Given the description of an element on the screen output the (x, y) to click on. 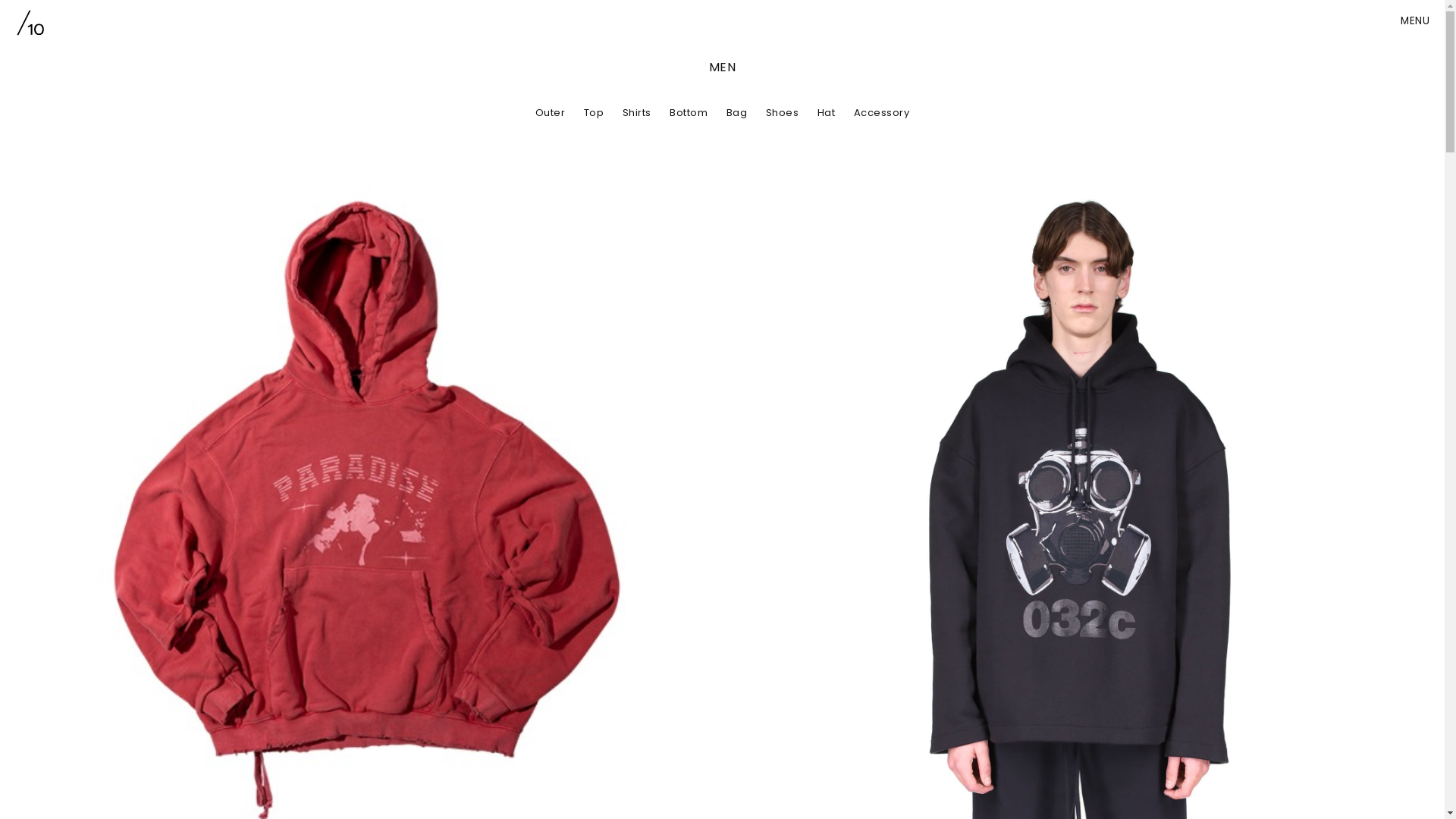
MENU Element type: text (1414, 20)
Bag Element type: text (736, 112)
Outer Element type: text (550, 112)
Bottom Element type: text (688, 112)
Top Element type: text (593, 112)
Accessory Element type: text (881, 112)
Shirts Element type: text (636, 112)
Shoes Element type: text (782, 112)
Hat Element type: text (826, 112)
